Given the description of an element on the screen output the (x, y) to click on. 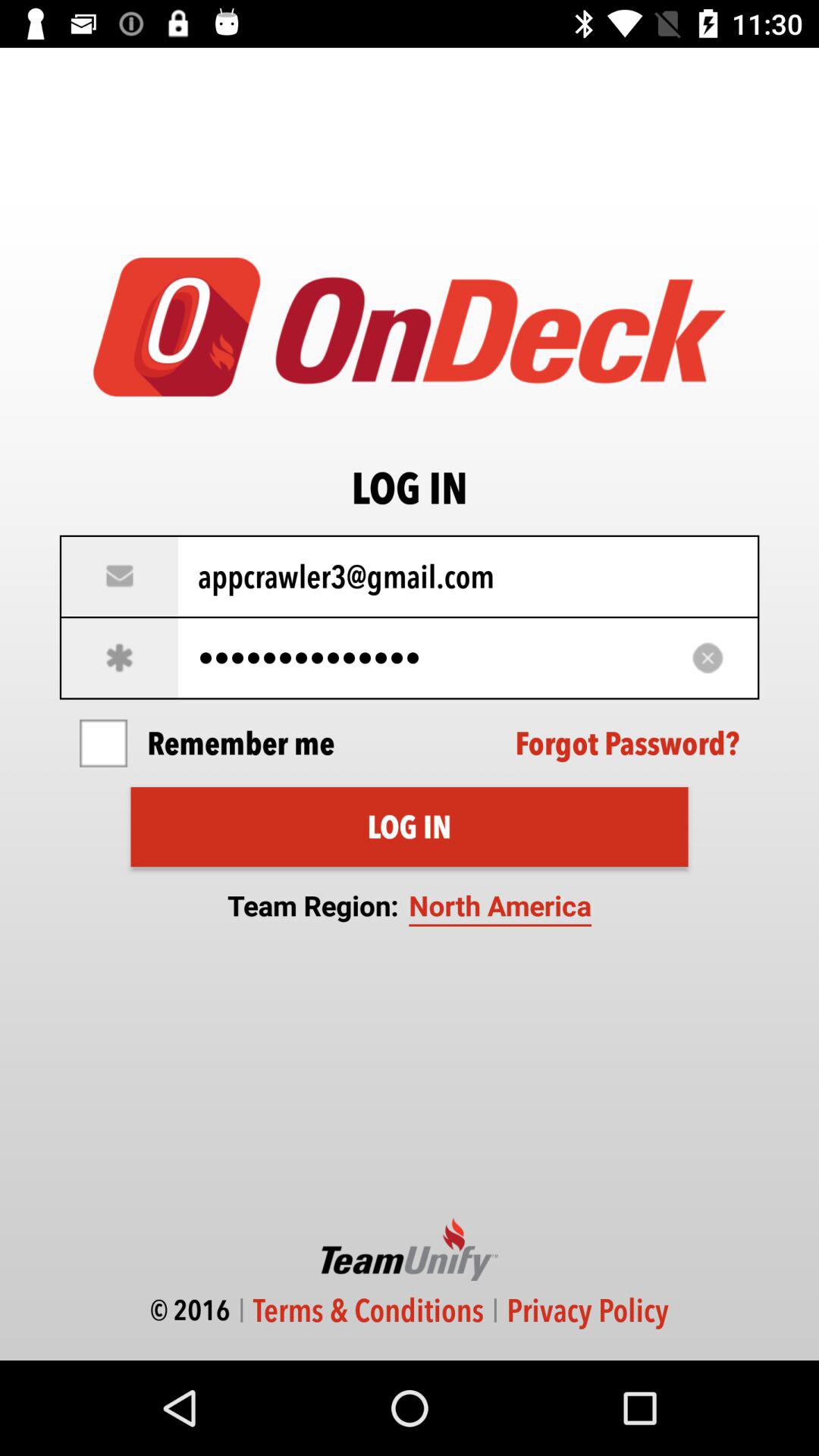
jump until the privacy policy item (587, 1310)
